Given the description of an element on the screen output the (x, y) to click on. 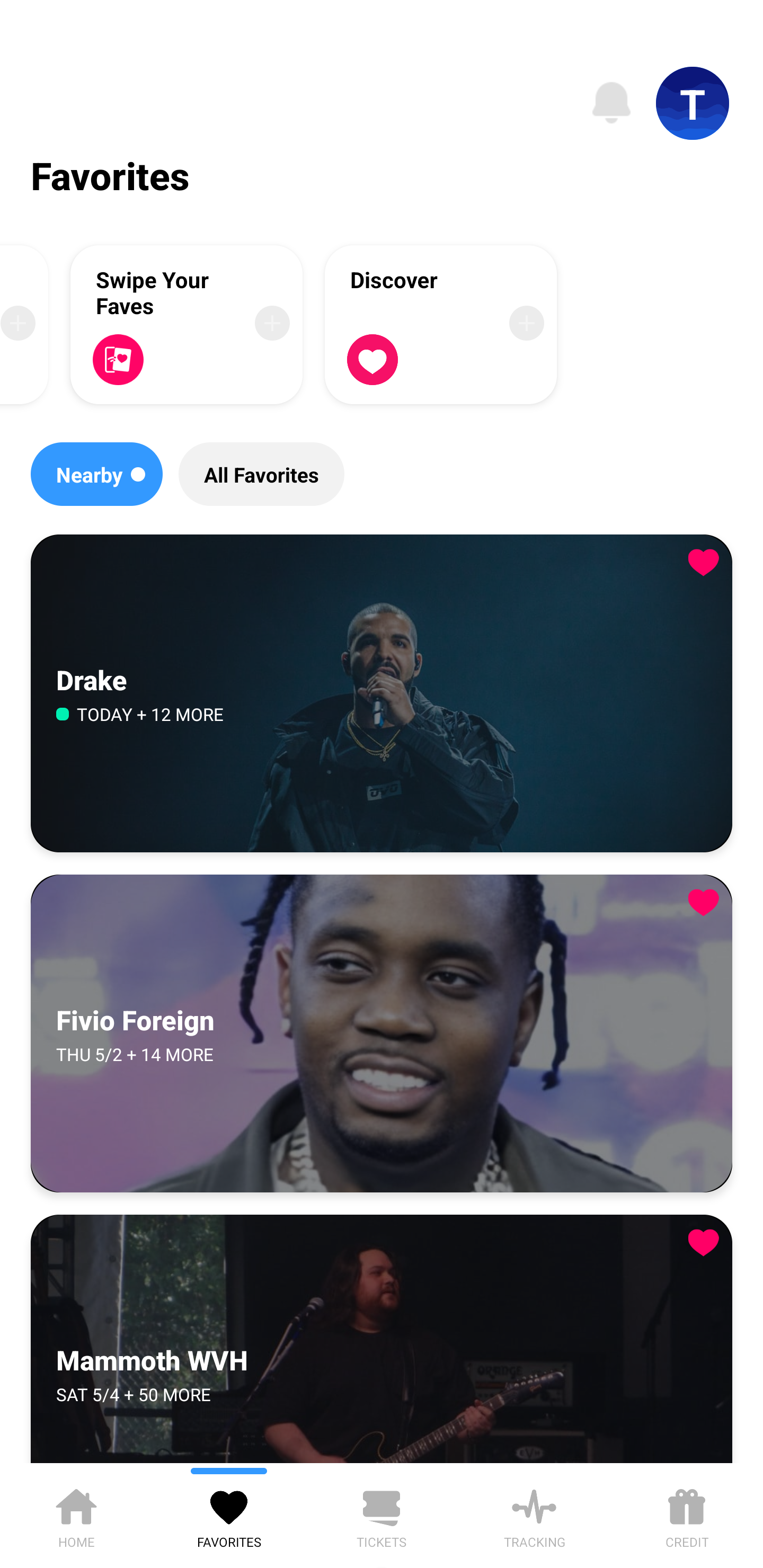
T (692, 103)
Swipe Your  Faves (186, 324)
Discover (440, 324)
Nearby (96, 474)
All Favorites (261, 474)
Drake, TODAY + 12 MORE  Drake TODAY + 12 MORE  (381, 693)
HOME (76, 1515)
FAVORITES (228, 1515)
TICKETS (381, 1515)
TRACKING (533, 1515)
CREDIT (686, 1515)
